Given the description of an element on the screen output the (x, y) to click on. 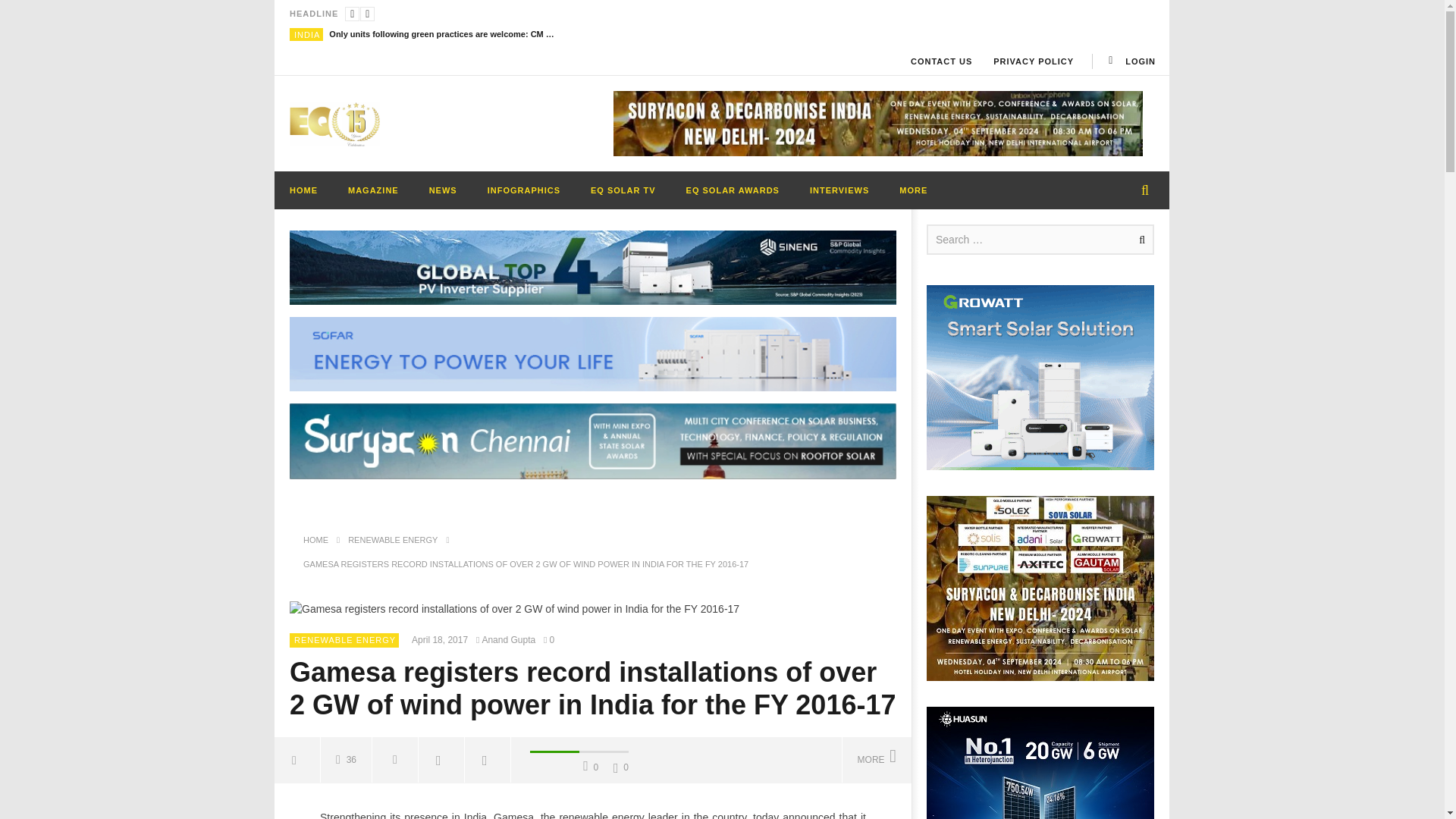
REPORT THIS (395, 759)
View all posts in Renewable Energy (345, 639)
View all posts in India (307, 34)
INDIA (307, 34)
The Leading Solar Magazine In India (334, 123)
LOGIN (1130, 61)
MAGAZINE (373, 190)
Search (1139, 239)
PRIVACY POLICY (1033, 61)
share (297, 759)
